Given the description of an element on the screen output the (x, y) to click on. 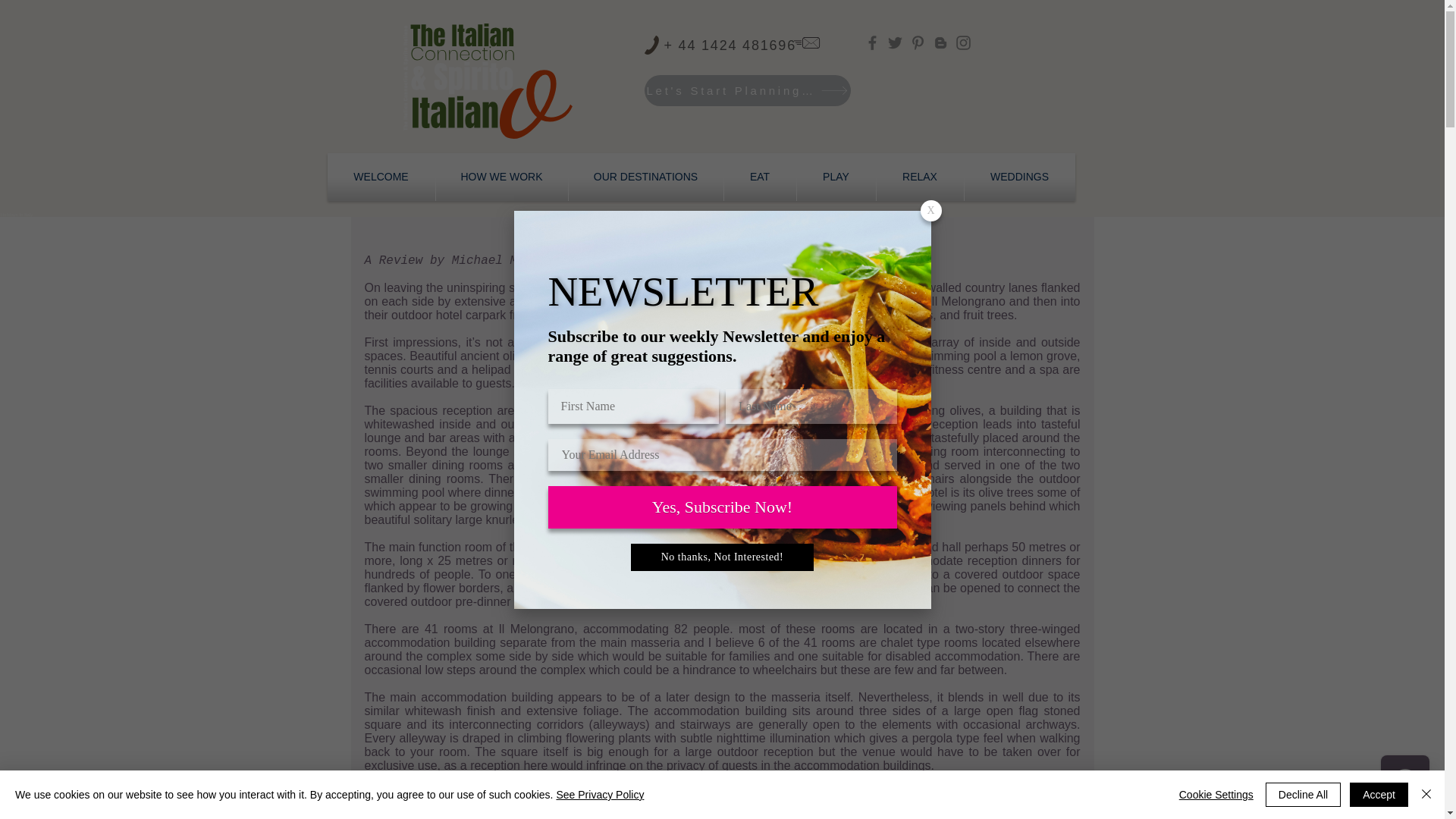
WEDDINGS (1019, 176)
WELCOME (381, 176)
RELAX (919, 176)
HOW WE WORK (501, 176)
Let's Start Planning Your Bespoke Holiday (747, 90)
EAT (758, 176)
OUR DESTINATIONS (646, 176)
PLAY (835, 176)
